Given the description of an element on the screen output the (x, y) to click on. 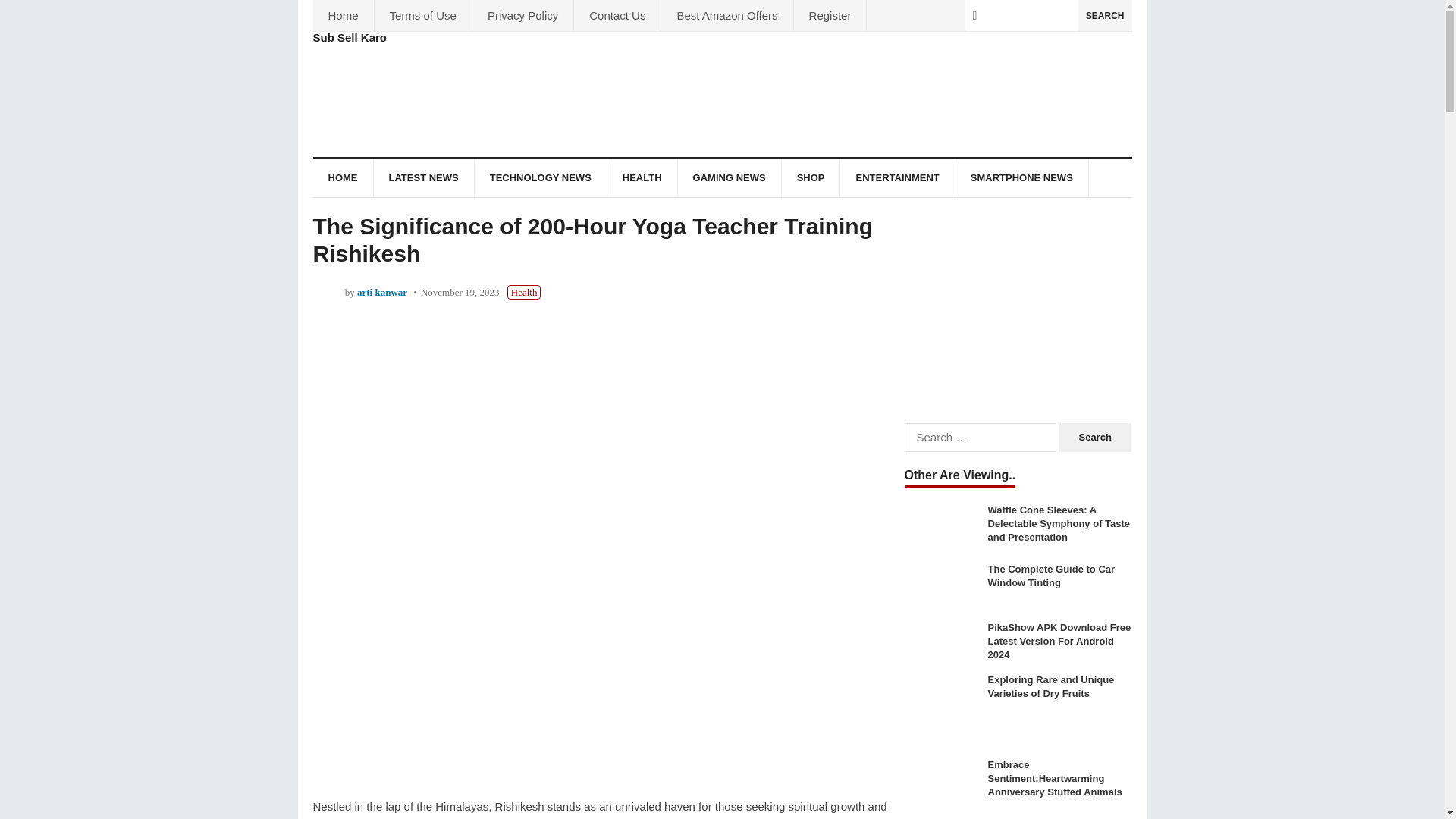
Home (342, 15)
Privacy Policy (522, 15)
Sub Sell Karo (350, 37)
The Complete Guide to Car Window Tinting (941, 585)
TECHNOLOGY NEWS (540, 177)
View all posts in Health (523, 292)
Posts by arti kanwar (381, 292)
Search (1095, 437)
arti kanwar (381, 292)
LATEST NEWS (422, 177)
PikaShow APK Download Free Latest Version For Android 2024 (941, 638)
Health (523, 292)
HEALTH (642, 177)
Best Amazon Offers (726, 15)
